Given the description of an element on the screen output the (x, y) to click on. 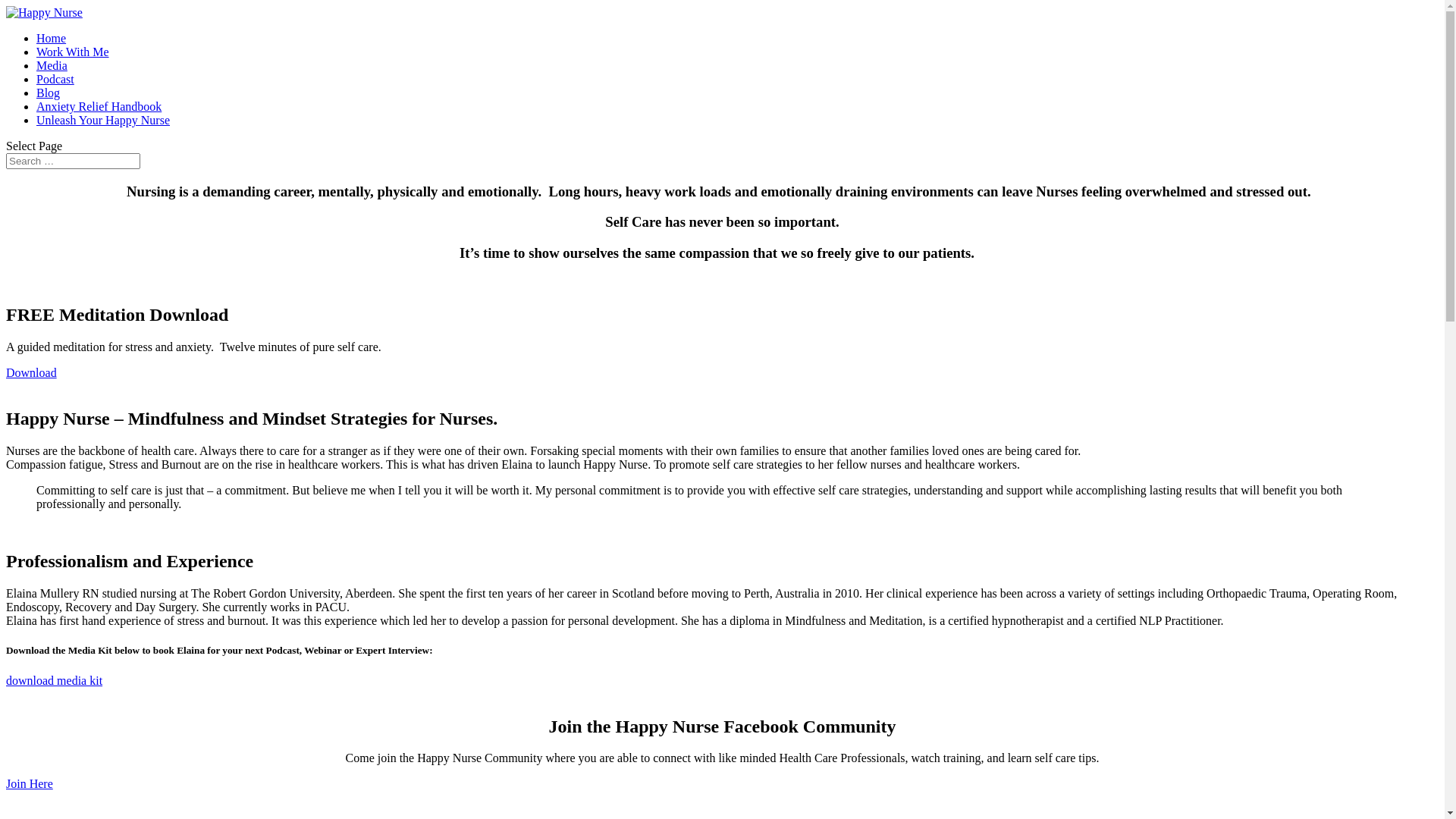
Work With Me Element type: text (72, 51)
Download Element type: text (31, 372)
Anxiety Relief Handbook Element type: text (98, 106)
Podcast Element type: text (55, 78)
Search for: Element type: hover (73, 161)
Join Here Element type: text (29, 783)
download media kit Element type: text (54, 680)
Media Element type: text (51, 65)
Blog Element type: text (47, 92)
Unleash Your Happy Nurse Element type: text (102, 119)
Home Element type: text (50, 37)
